Given the description of an element on the screen output the (x, y) to click on. 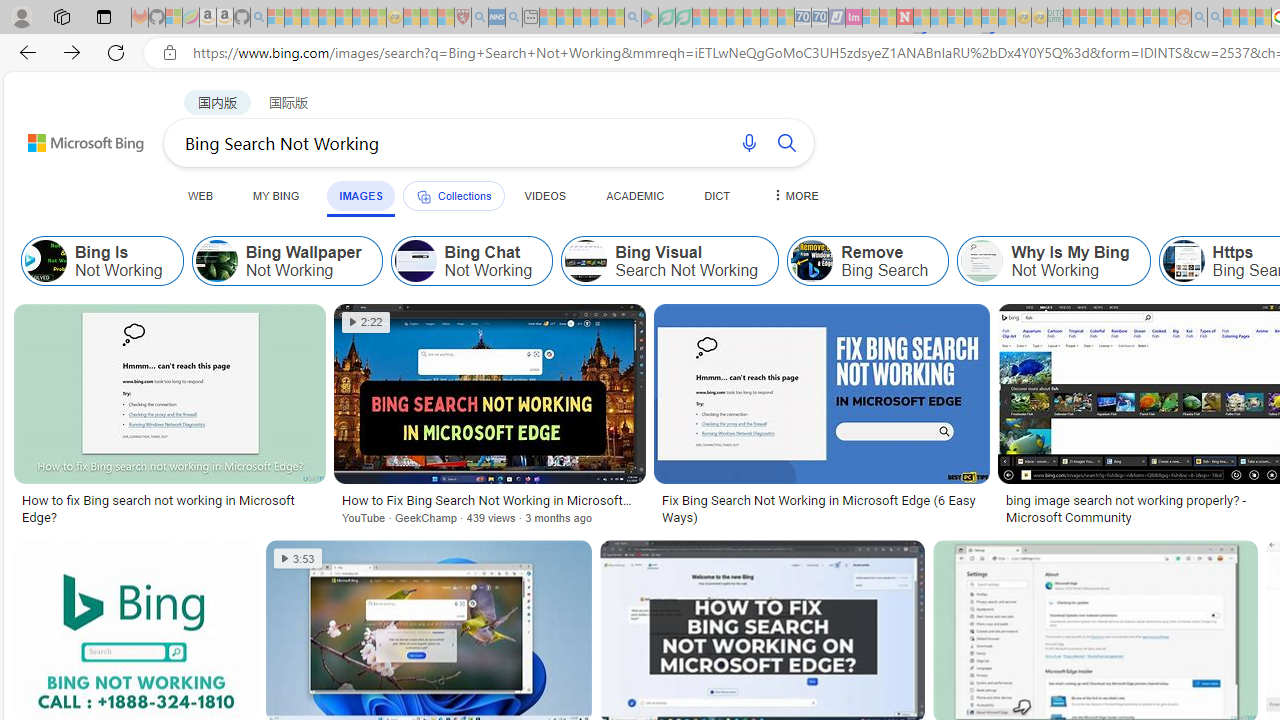
IMAGES (360, 195)
Bing Wallpaper Not Working (286, 260)
Expert Portfolios - Sleeping (1119, 17)
Remove Bing Search (868, 260)
Fix Bing Search Not Working in Microsoft Edge (6 Easy Ways) (821, 508)
How to fix Bing search not working in Microsoft Edge?Save (174, 417)
2:22 (365, 322)
ACADEMIC (635, 195)
IMAGES (360, 196)
